Given the description of an element on the screen output the (x, y) to click on. 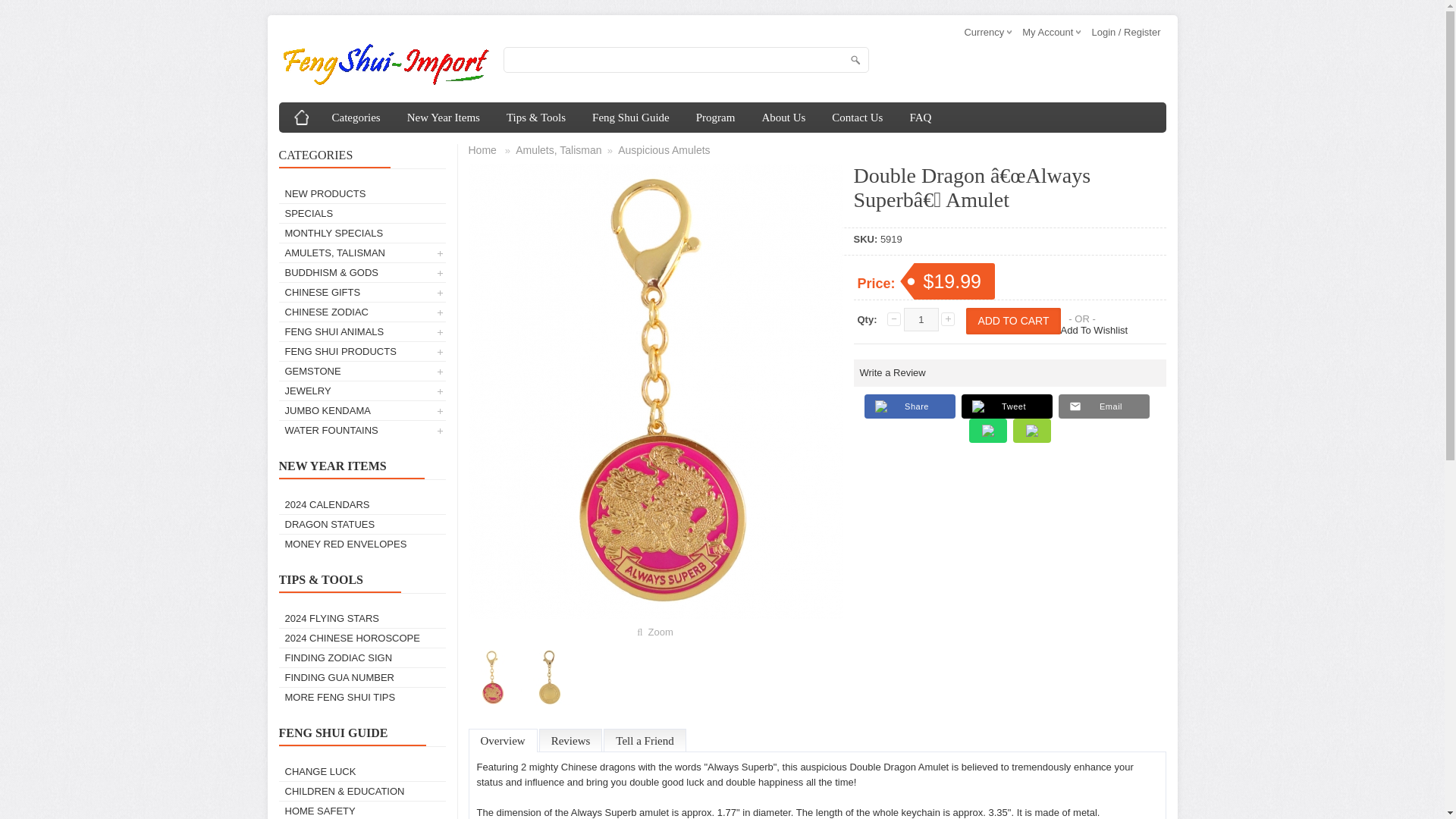
Home (301, 117)
1 (921, 319)
Categories (355, 117)
New Year Items (444, 117)
Feng Shui Guide (630, 117)
Add To Cart (1012, 320)
